Given the description of an element on the screen output the (x, y) to click on. 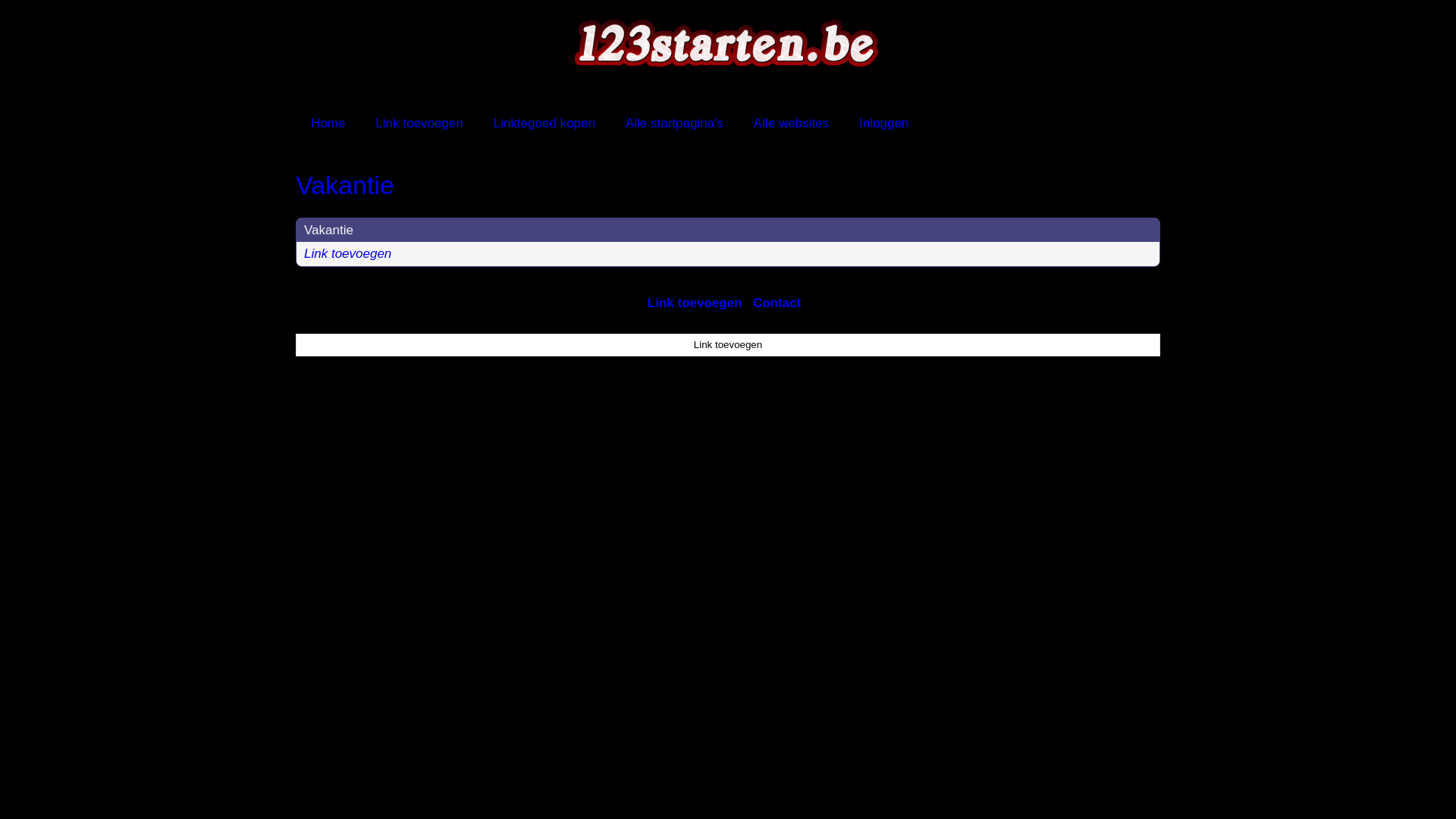
Link toevoegen Element type: text (347, 253)
Link toevoegen Element type: text (418, 122)
Vakantie Element type: text (727, 185)
Home Element type: text (327, 122)
Vakantie Element type: text (328, 229)
Linktegoed kopen Element type: text (544, 122)
Alle startpagina's Element type: text (674, 122)
Alle websites Element type: text (791, 122)
Link toevoegen Element type: text (694, 302)
Link toevoegen Element type: text (727, 344)
Contact Element type: text (776, 302)
Inloggen Element type: text (883, 122)
